Given the description of an element on the screen output the (x, y) to click on. 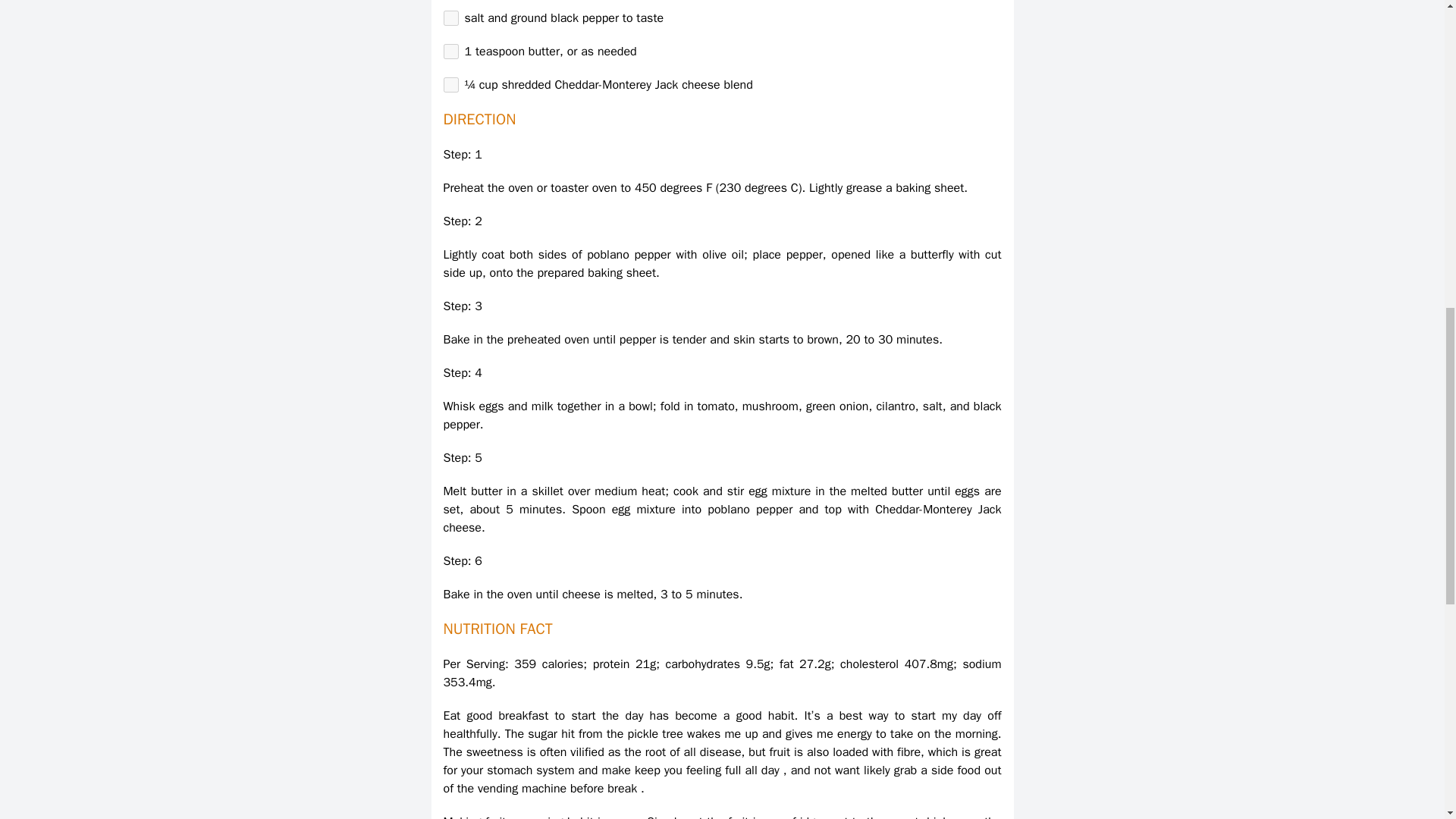
on (450, 17)
on (450, 84)
on (450, 51)
